Given the description of an element on the screen output the (x, y) to click on. 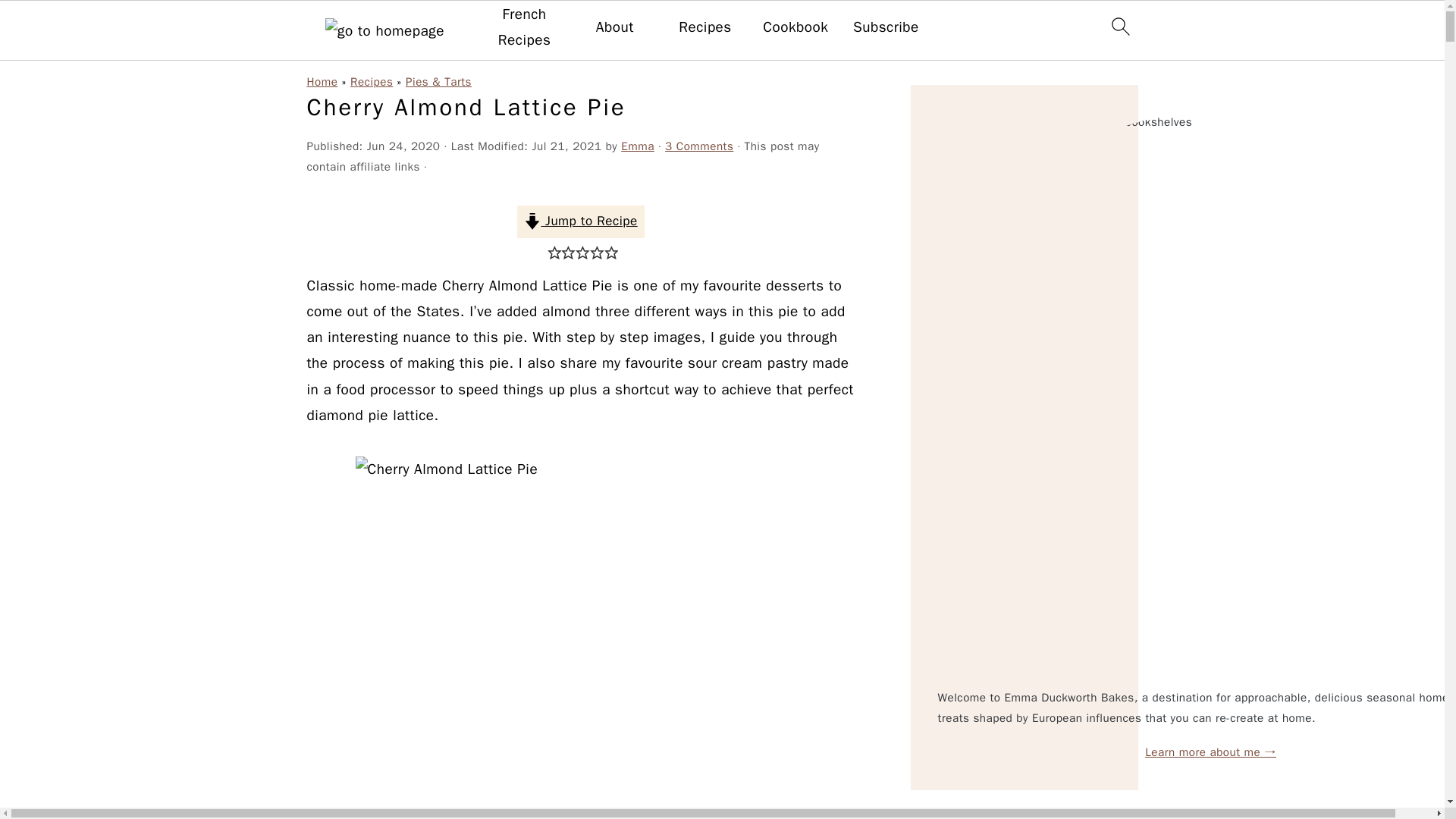
Cookbook (795, 27)
French Recipes (523, 27)
Emma (637, 145)
Home (321, 81)
Jump to Recipe (580, 221)
Recipes (705, 27)
About (614, 27)
Subscribe (885, 27)
3 Comments (699, 145)
